Given the description of an element on the screen output the (x, y) to click on. 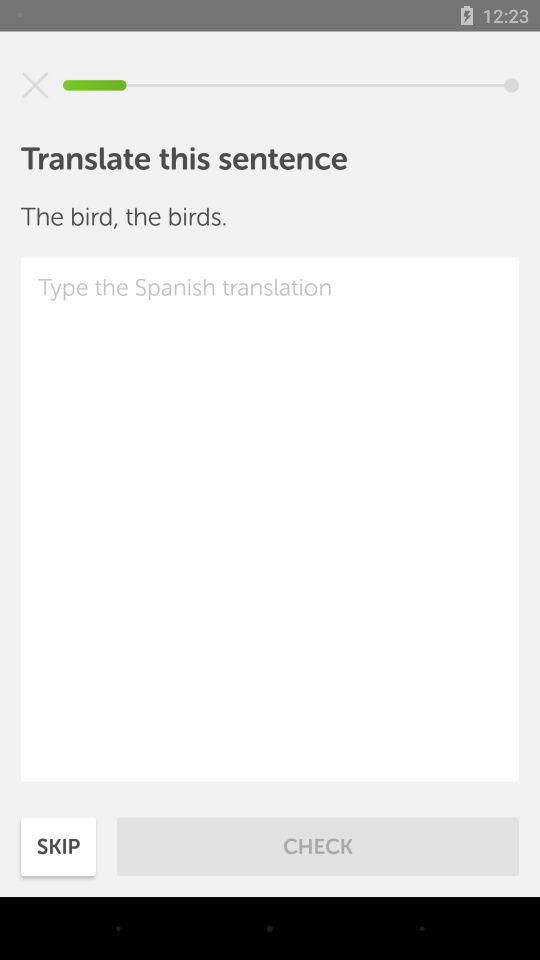
tap item next to the check item (58, 846)
